Given the description of an element on the screen output the (x, y) to click on. 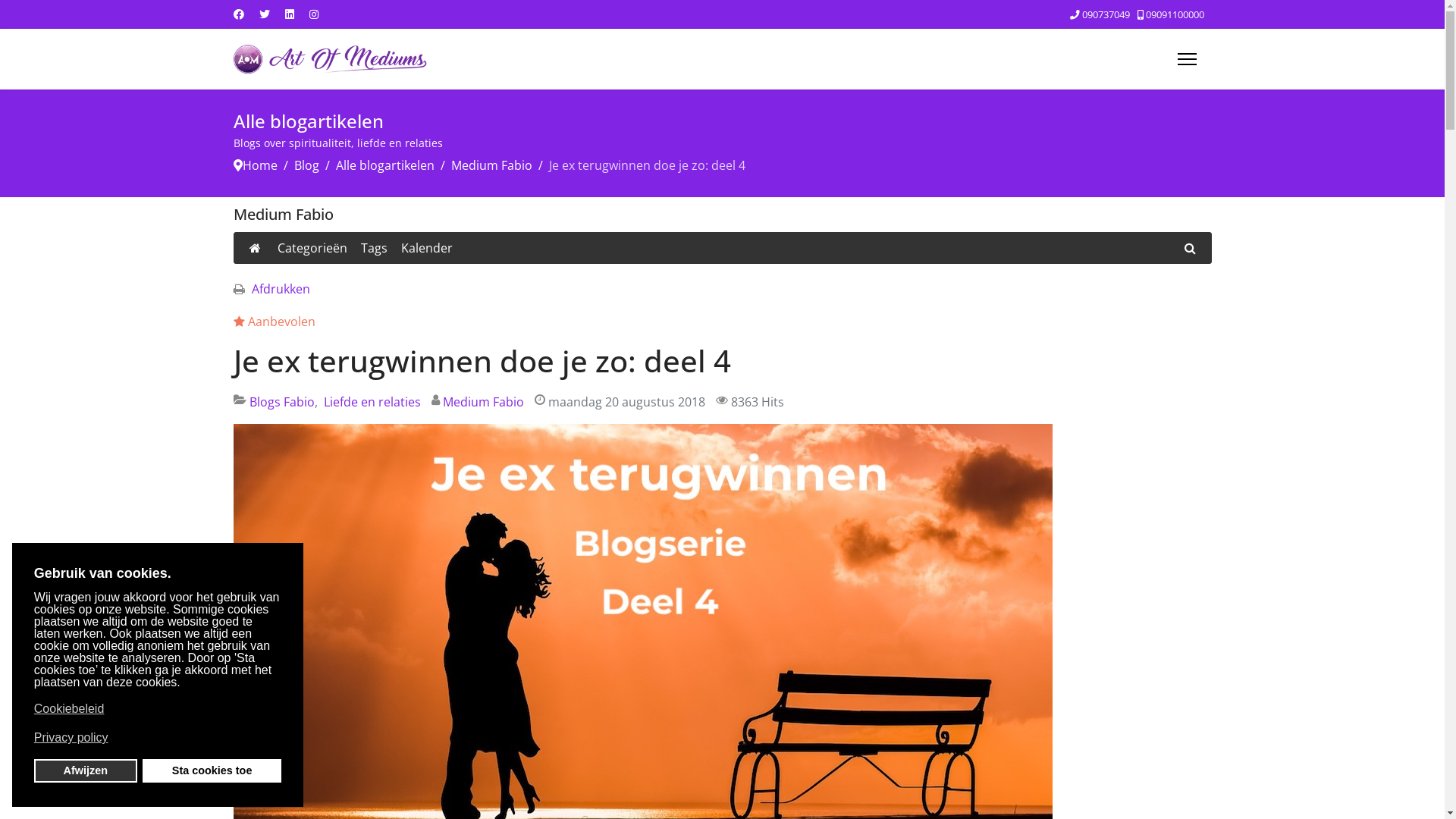
Afwijzen Element type: text (85, 770)
Cookiebeleid Element type: text (156, 708)
Liefde en relaties Element type: text (371, 401)
Alle blogartikelen Element type: text (384, 164)
Home Element type: text (259, 164)
Kalender Element type: text (426, 247)
Sta cookies toe Element type: text (211, 770)
Medium Fabio Element type: text (490, 164)
Blog Element type: text (306, 164)
090737049 Element type: text (1105, 14)
Afdrukken Element type: text (280, 288)
Blogs Fabio Element type: text (280, 401)
Tags Element type: text (373, 247)
09091100000 Element type: text (1174, 14)
Medium Fabio Element type: text (483, 401)
Privacy policy Element type: text (156, 737)
